Given the description of an element on the screen output the (x, y) to click on. 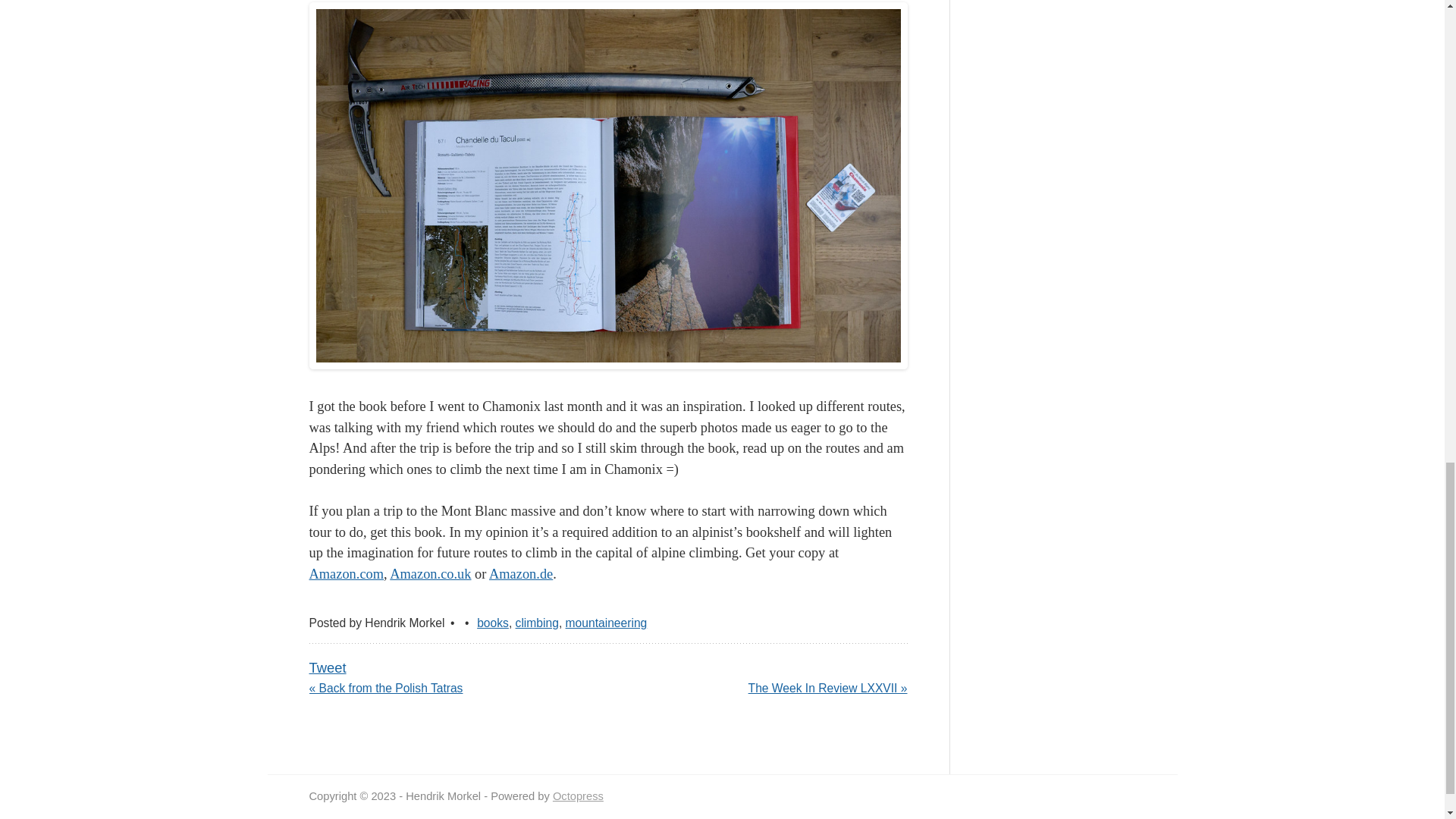
Next Post: The Week In Review LXXVII (827, 688)
books (492, 622)
Amazon.de (521, 573)
Amazon.co.uk (430, 573)
Tweet (327, 667)
Amazon.com (346, 573)
Octopress (578, 796)
climbing (537, 622)
Previous Post: Back from the Polish Tatras (385, 688)
mountaineering (606, 622)
